Given the description of an element on the screen output the (x, y) to click on. 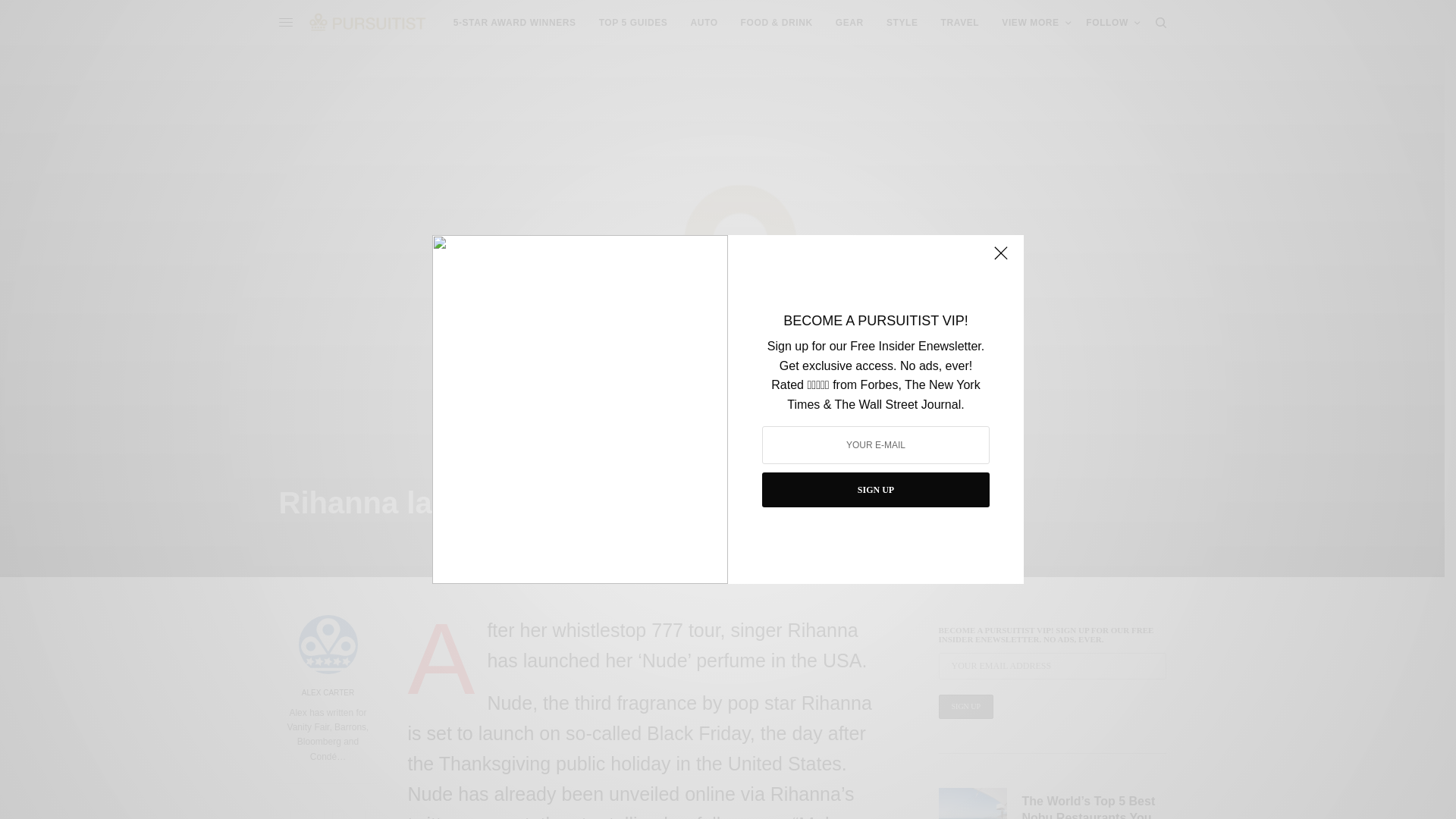
SIGN UP (875, 489)
5-STAR AWARD WINNERS (514, 22)
5-Star Pursuits (514, 22)
ALEX CARTER (328, 692)
TOP 5 GUIDES (633, 22)
VIEW MORE (1035, 22)
Sign up (966, 706)
Pursuitist (366, 22)
FOLLOW (1113, 22)
